Given the description of an element on the screen output the (x, y) to click on. 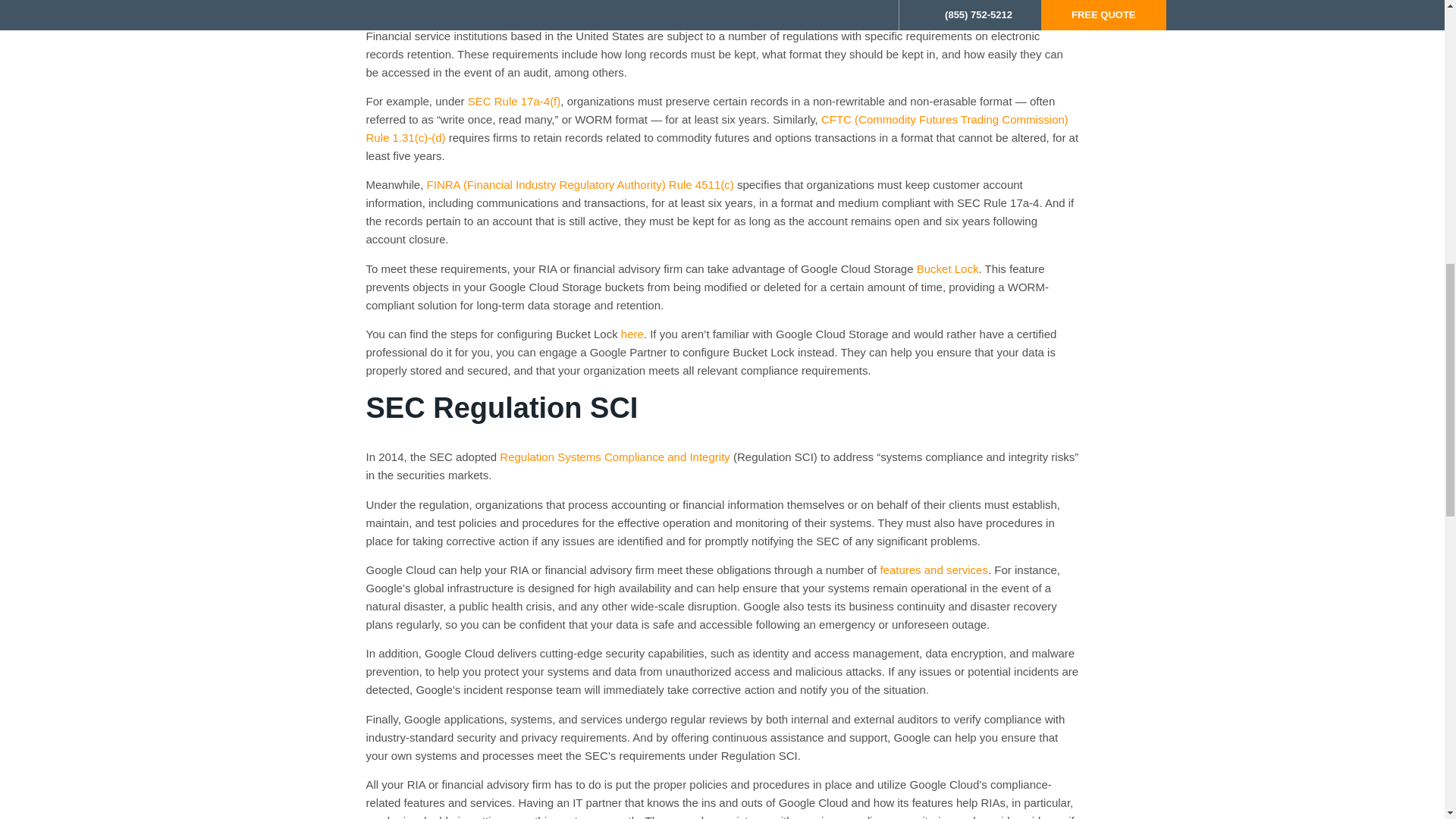
Regulation Systems Compliance and Integrity (614, 456)
here (632, 333)
features and services (933, 569)
Bucket Lock (947, 268)
